Given the description of an element on the screen output the (x, y) to click on. 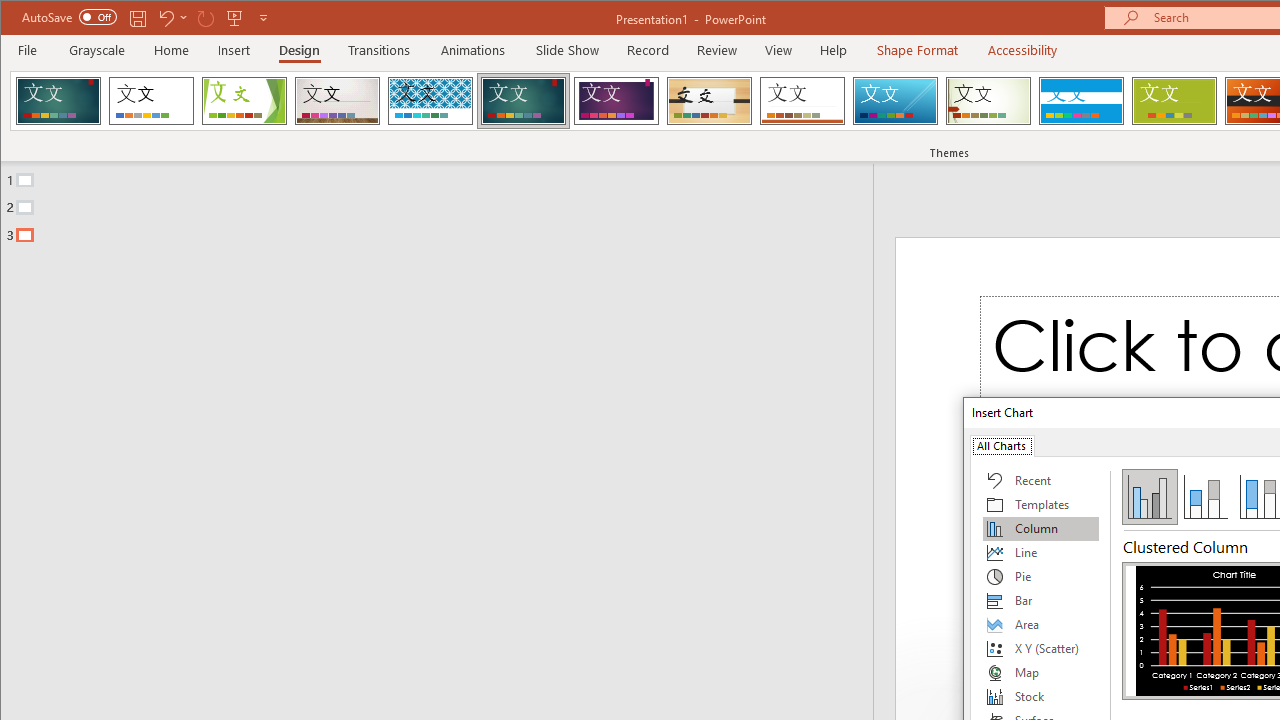
Retrospect (802, 100)
Area (1041, 624)
Column (1041, 528)
Facet (244, 100)
